Given the description of an element on the screen output the (x, y) to click on. 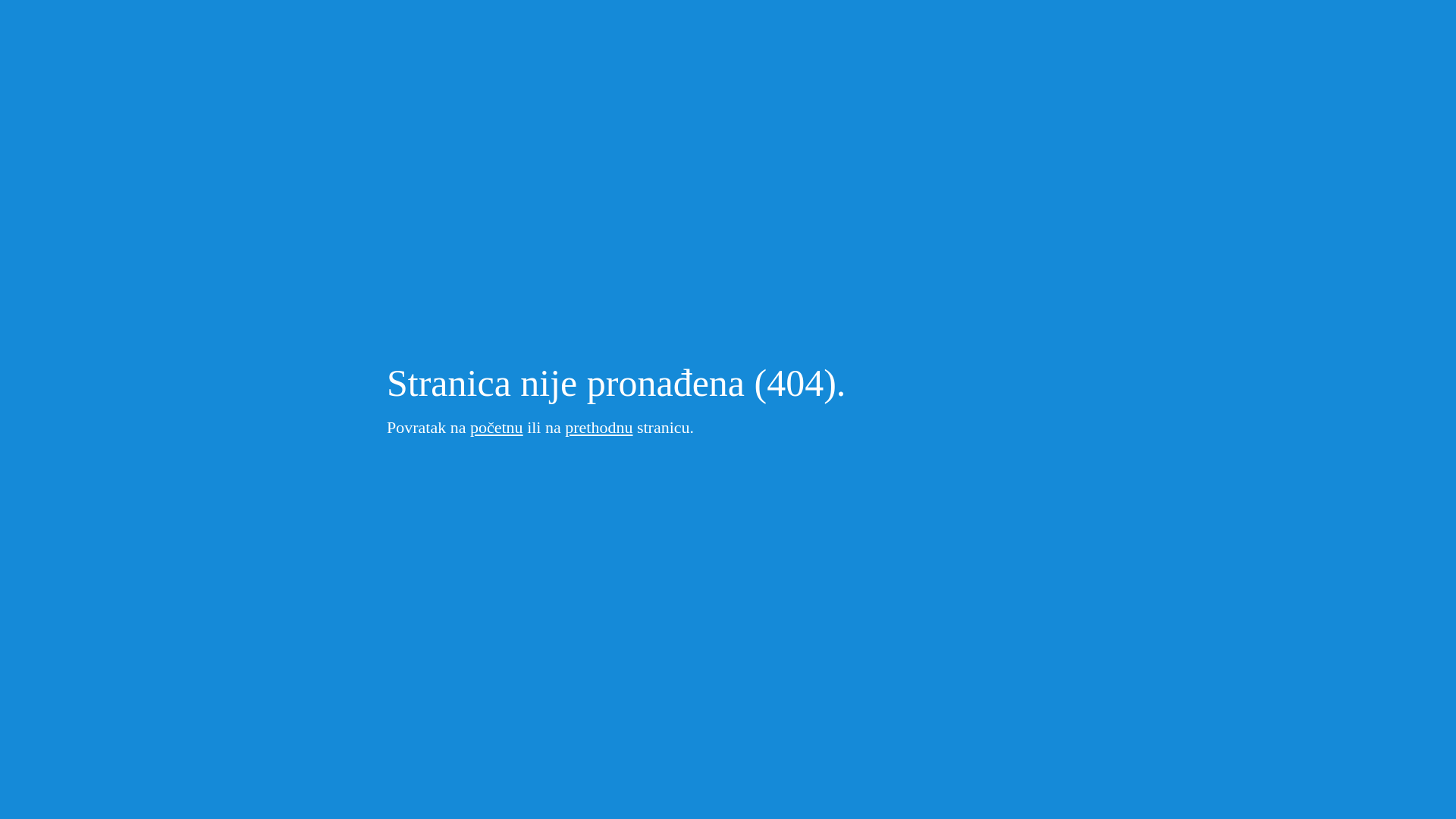
prethodnu Element type: text (598, 426)
